Given the description of an element on the screen output the (x, y) to click on. 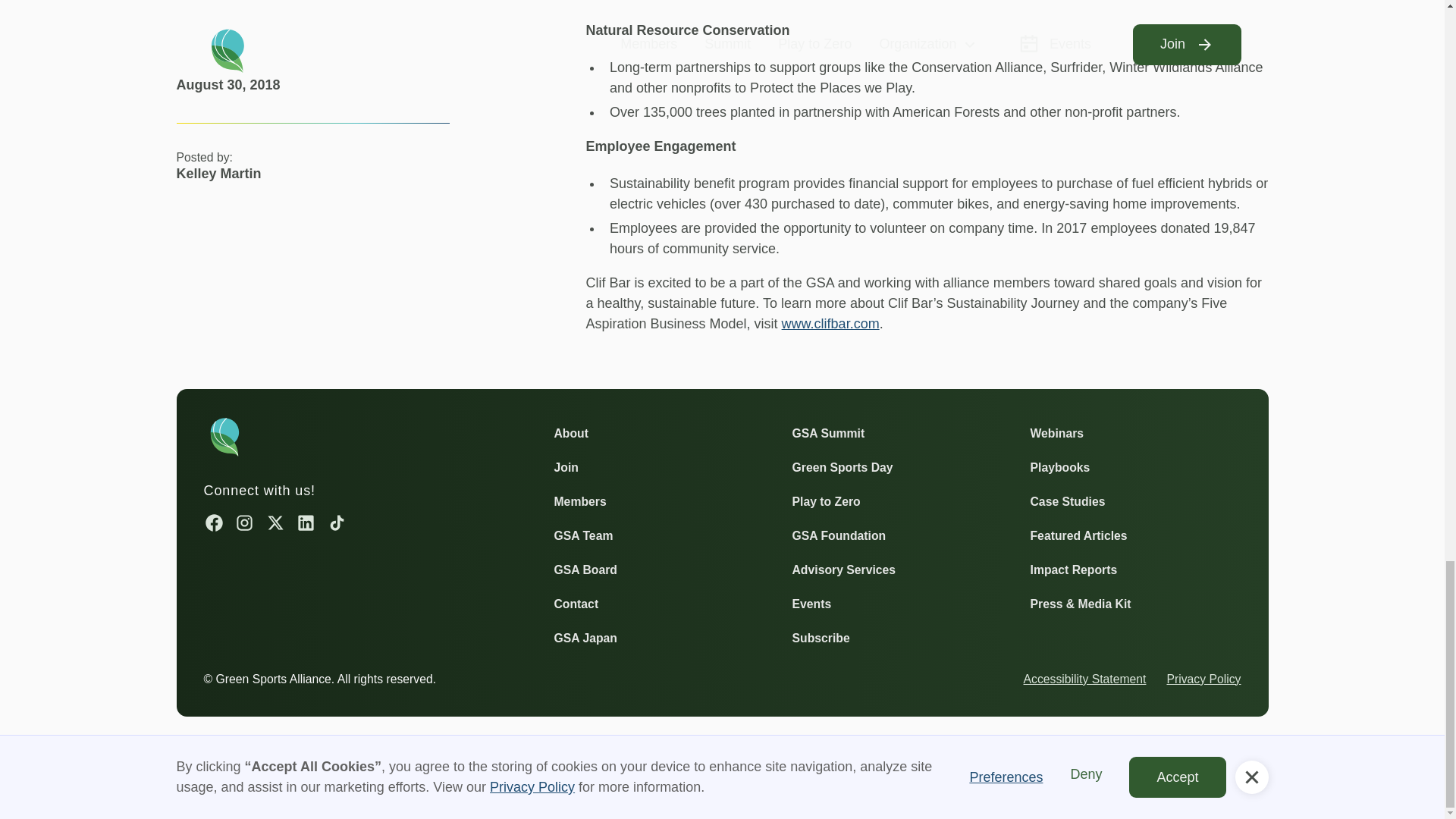
www.clifbar.com (830, 322)
About (570, 433)
Members (579, 501)
GSA Team (582, 534)
Join (565, 466)
